Given the description of an element on the screen output the (x, y) to click on. 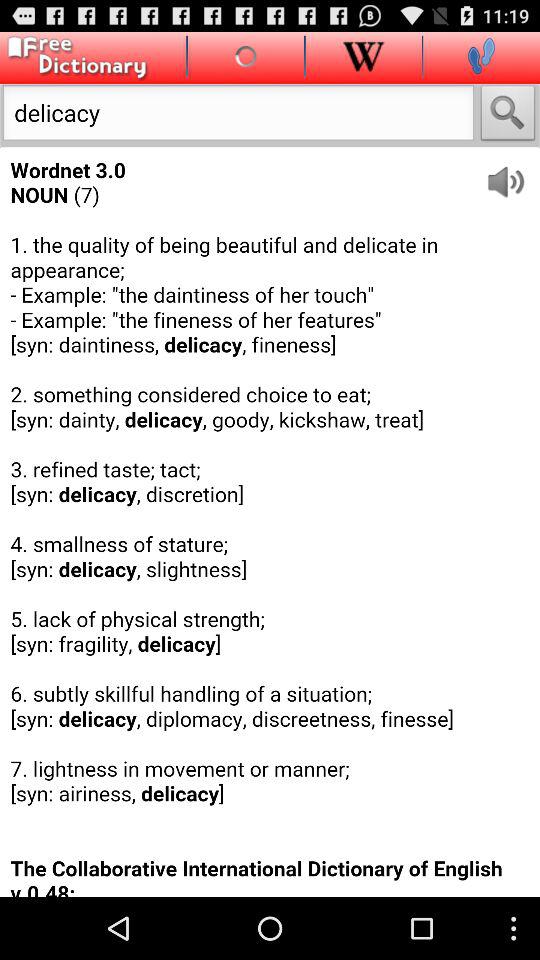
view dictionary (74, 58)
